Given the description of an element on the screen output the (x, y) to click on. 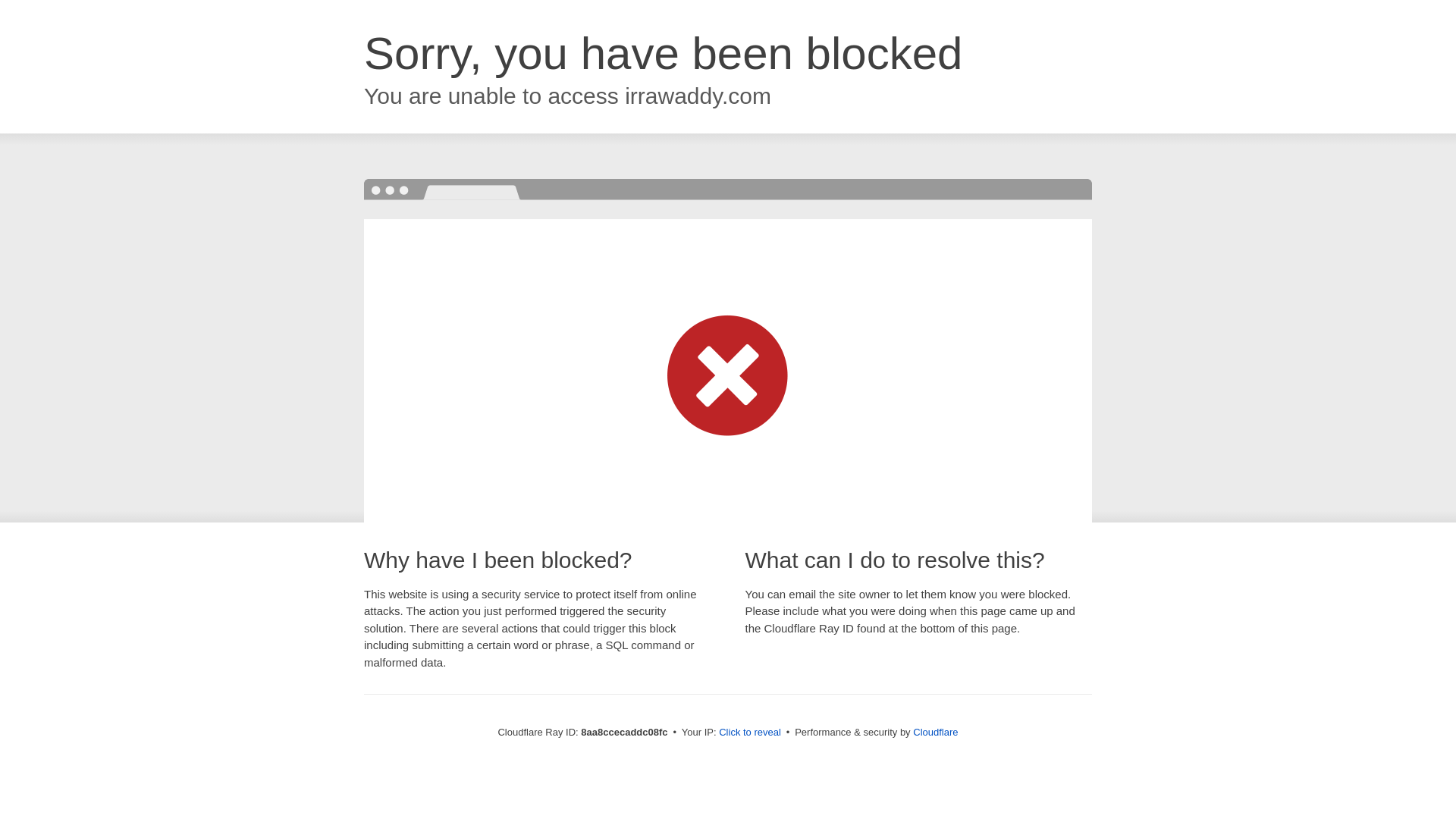
Click to reveal (749, 732)
Cloudflare (935, 731)
